Given the description of an element on the screen output the (x, y) to click on. 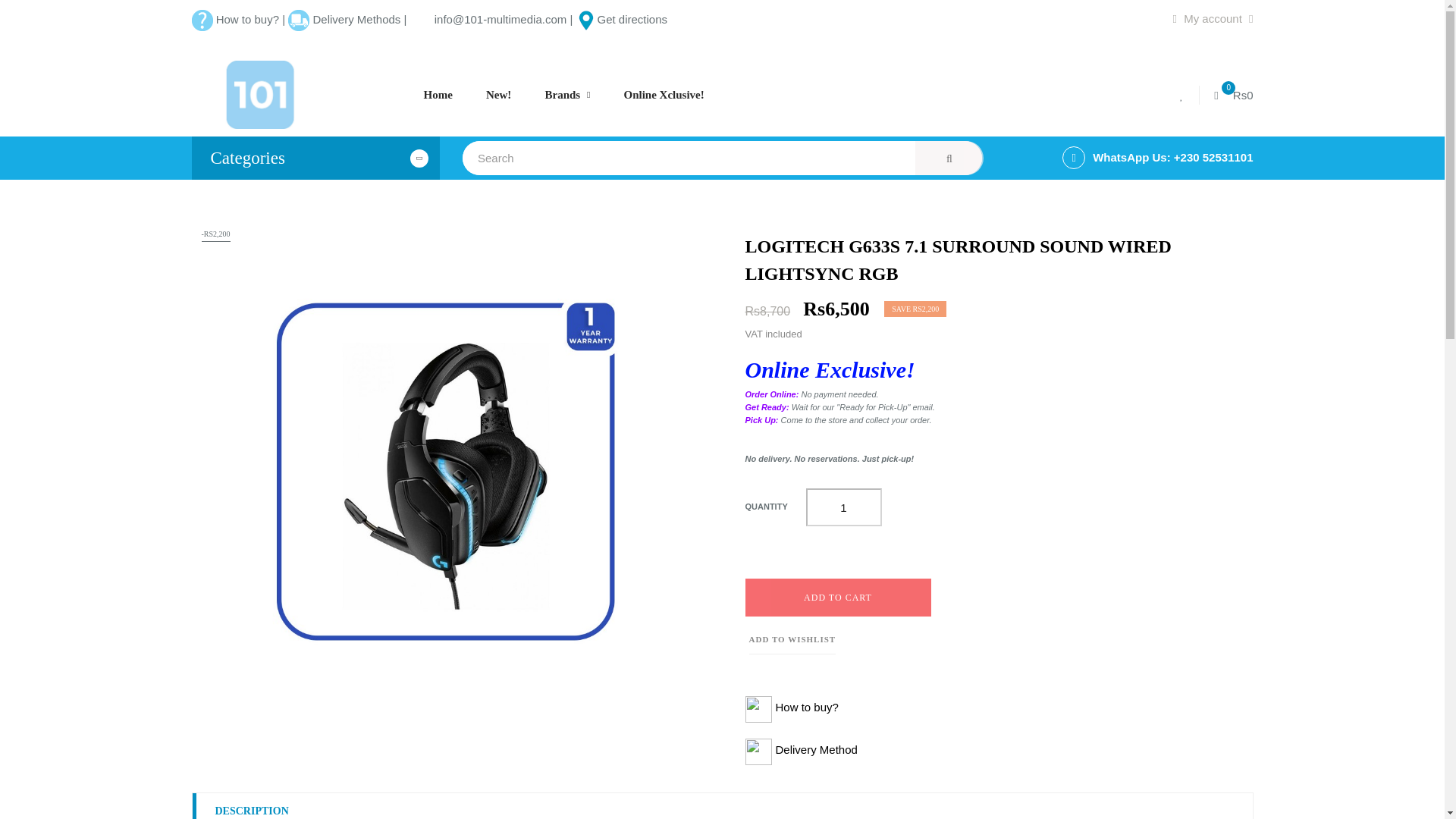
Account (1212, 18)
Brands (567, 94)
Delivery Methods (356, 19)
Online Xclusive! (663, 94)
My account (1212, 18)
Wishlist (1184, 94)
1 (842, 507)
Get directions (620, 19)
How to buy? (247, 19)
Add to Wishlist (792, 639)
